Given the description of an element on the screen output the (x, y) to click on. 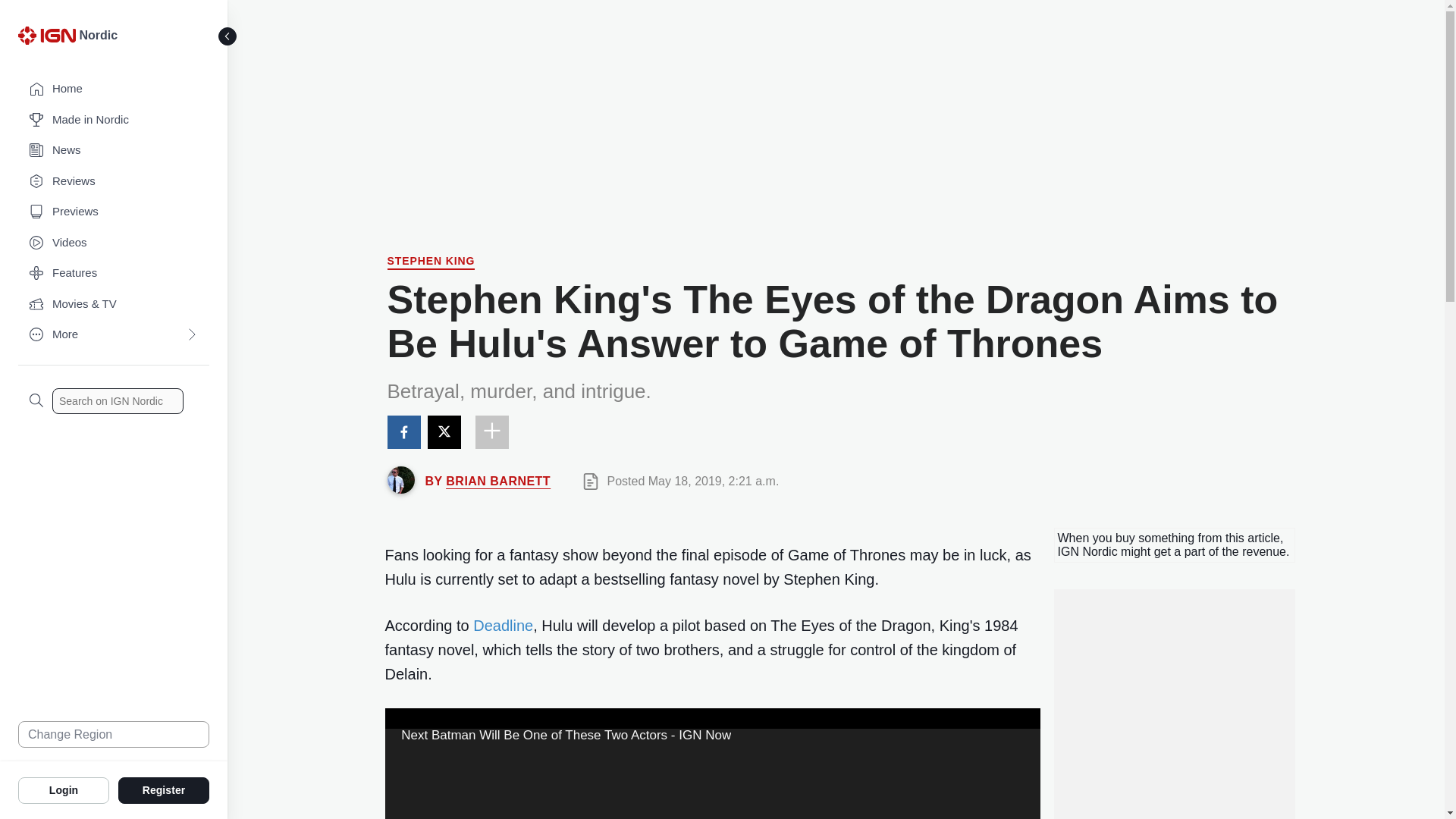
Stephen King (430, 262)
Features (113, 273)
News (113, 150)
Videos (113, 242)
Reviews (113, 181)
Made in Nordic (113, 119)
More (113, 334)
BRIAN BARNETT (497, 481)
STEPHEN KING (430, 262)
IGN Logo (46, 34)
